Given the description of an element on the screen output the (x, y) to click on. 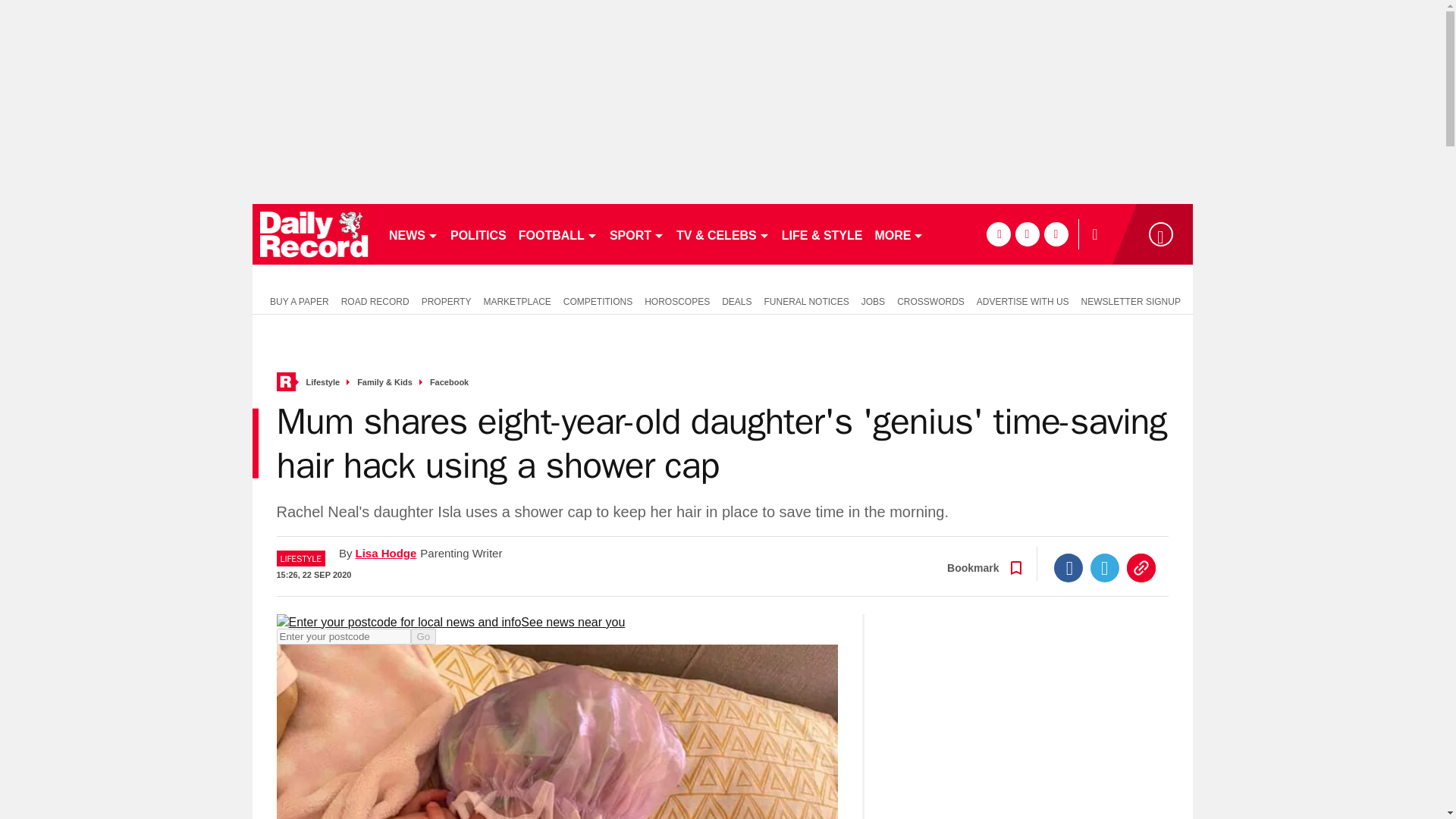
SPORT (636, 233)
facebook (997, 233)
Facebook (1068, 567)
twitter (1026, 233)
POLITICS (478, 233)
FOOTBALL (558, 233)
dailyrecord (313, 233)
Twitter (1104, 567)
NEWS (413, 233)
Go (423, 636)
instagram (1055, 233)
